Given the description of an element on the screen output the (x, y) to click on. 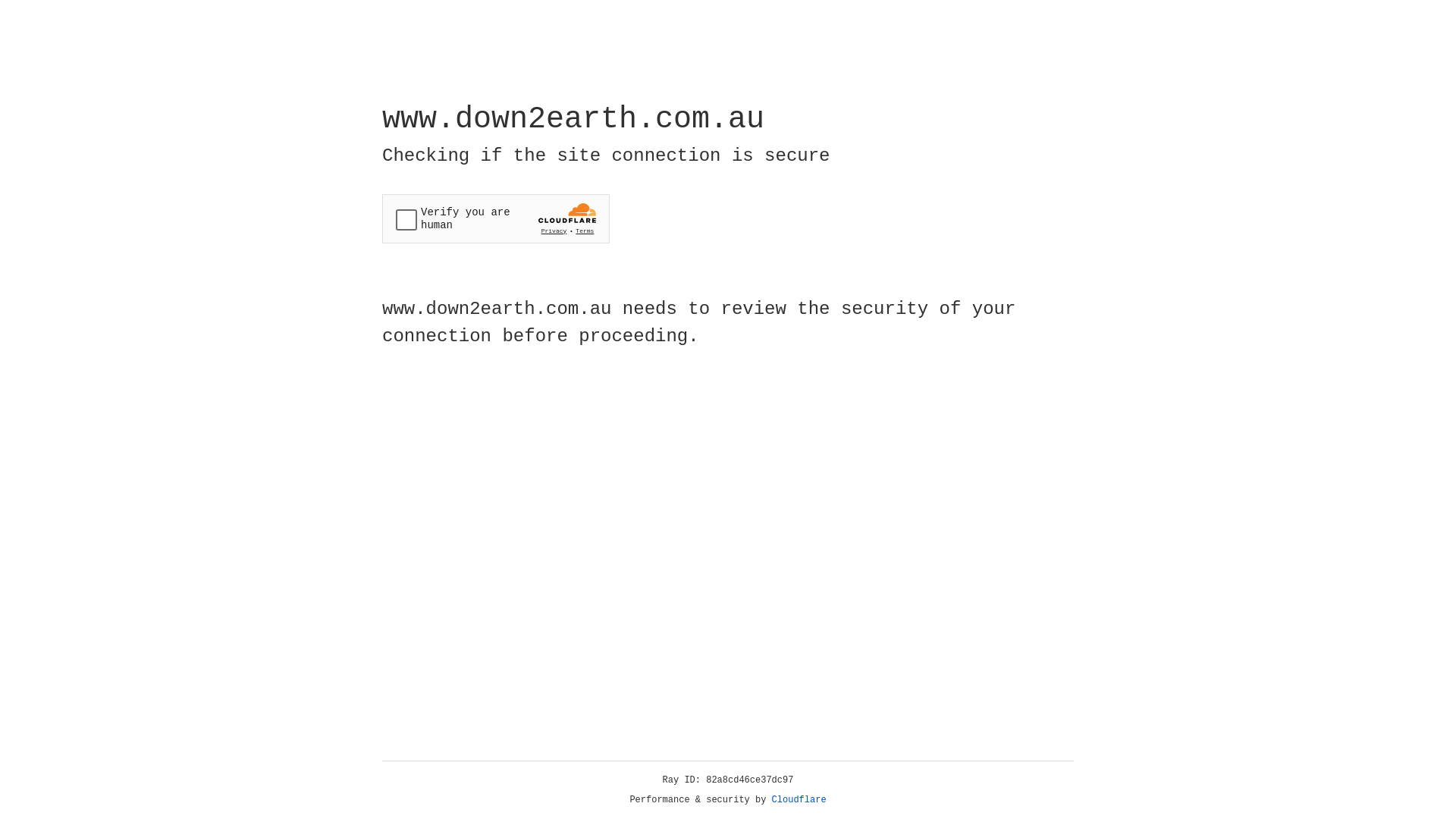
Cloudflare Element type: text (798, 799)
Widget containing a Cloudflare security challenge Element type: hover (495, 218)
